Given the description of an element on the screen output the (x, y) to click on. 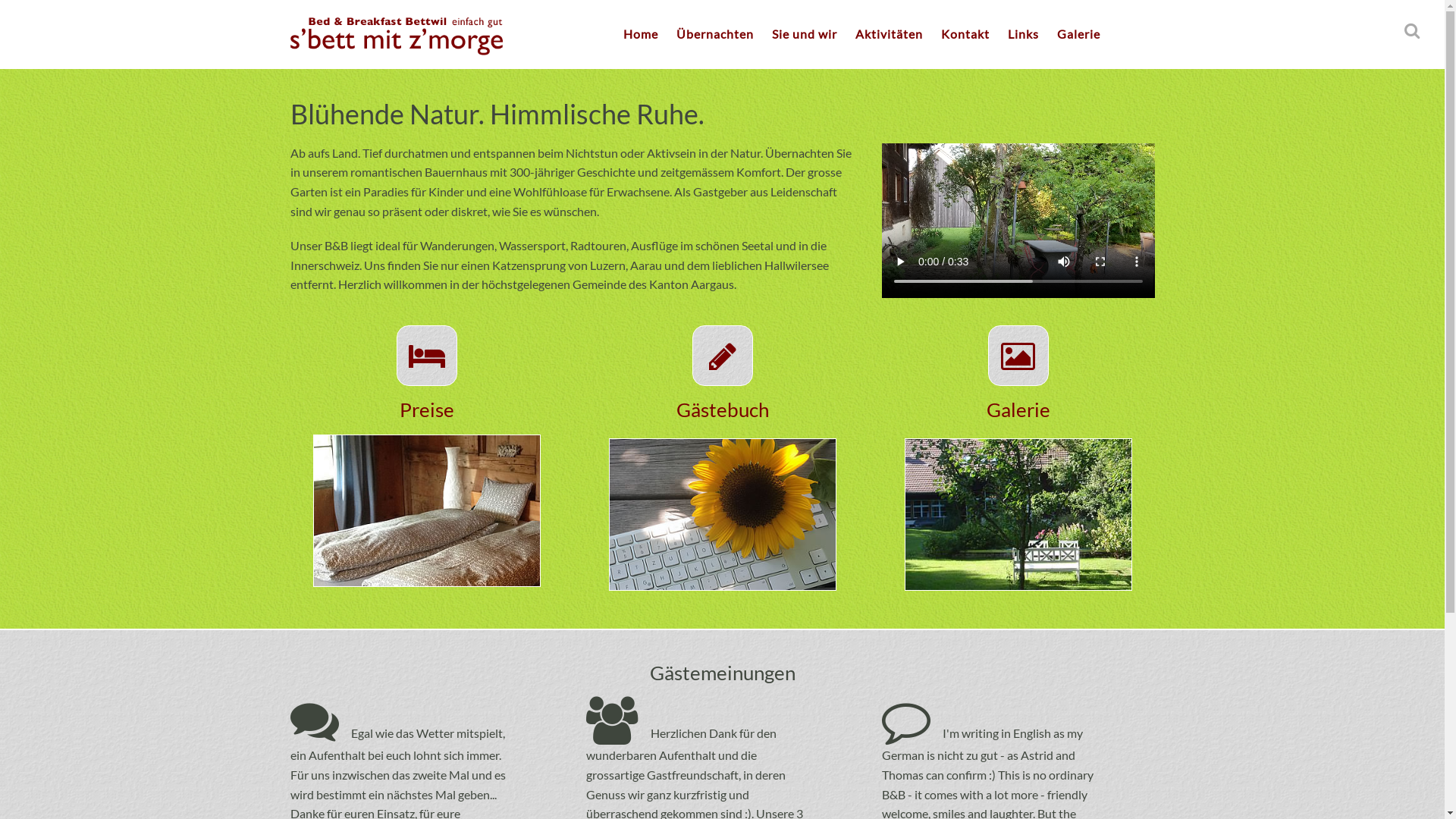
siehe Galerie Element type: hover (1017, 512)
siehe Preise Element type: hover (425, 508)
BnB Bettwil, einfach gut Element type: hover (395, 36)
Preise Element type: text (425, 409)
Galerie Element type: text (1017, 409)
